Given the description of an element on the screen output the (x, y) to click on. 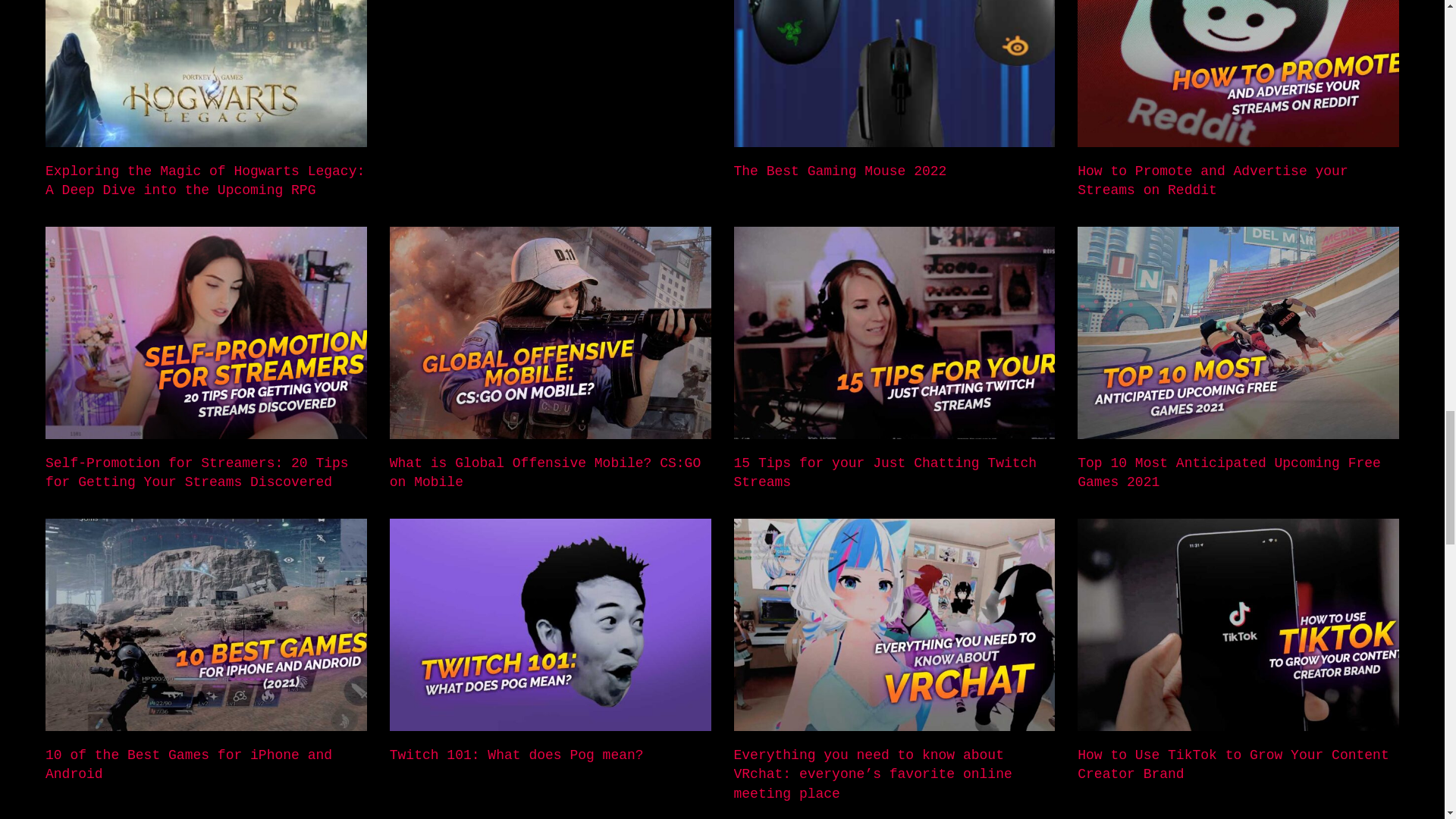
How to Use TikTok to Grow Your Content Creator Brand (1233, 764)
Top 10 Most Anticipated Upcoming Free Games 2021 (1228, 472)
Twitch 101: What does Pog mean? (516, 754)
10 of the Best Games for iPhone and Android (188, 764)
The Best Gaming Mouse 2022 (840, 171)
What is Global Offensive Mobile? CS:GO on Mobile (545, 472)
15 Tips for your Just Chatting Twitch Streams (884, 472)
How to Promote and Advertise your Streams on Reddit (1212, 180)
